Given the description of an element on the screen output the (x, y) to click on. 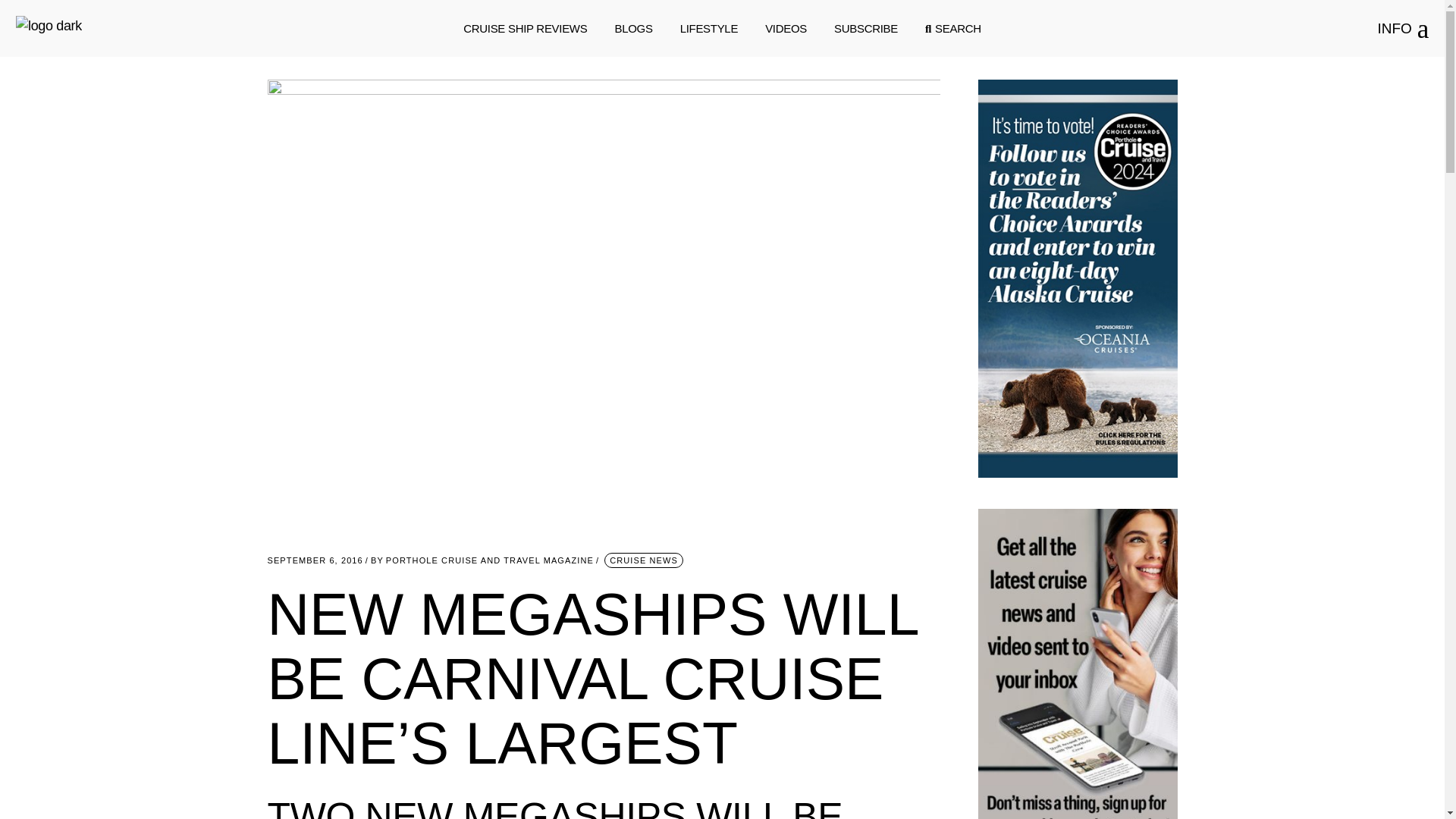
INFO (1402, 28)
SUBSCRIBE (866, 28)
LIFESTYLE (708, 28)
SEARCH (952, 28)
CRUISE SHIP REVIEWS (524, 28)
